Given the description of an element on the screen output the (x, y) to click on. 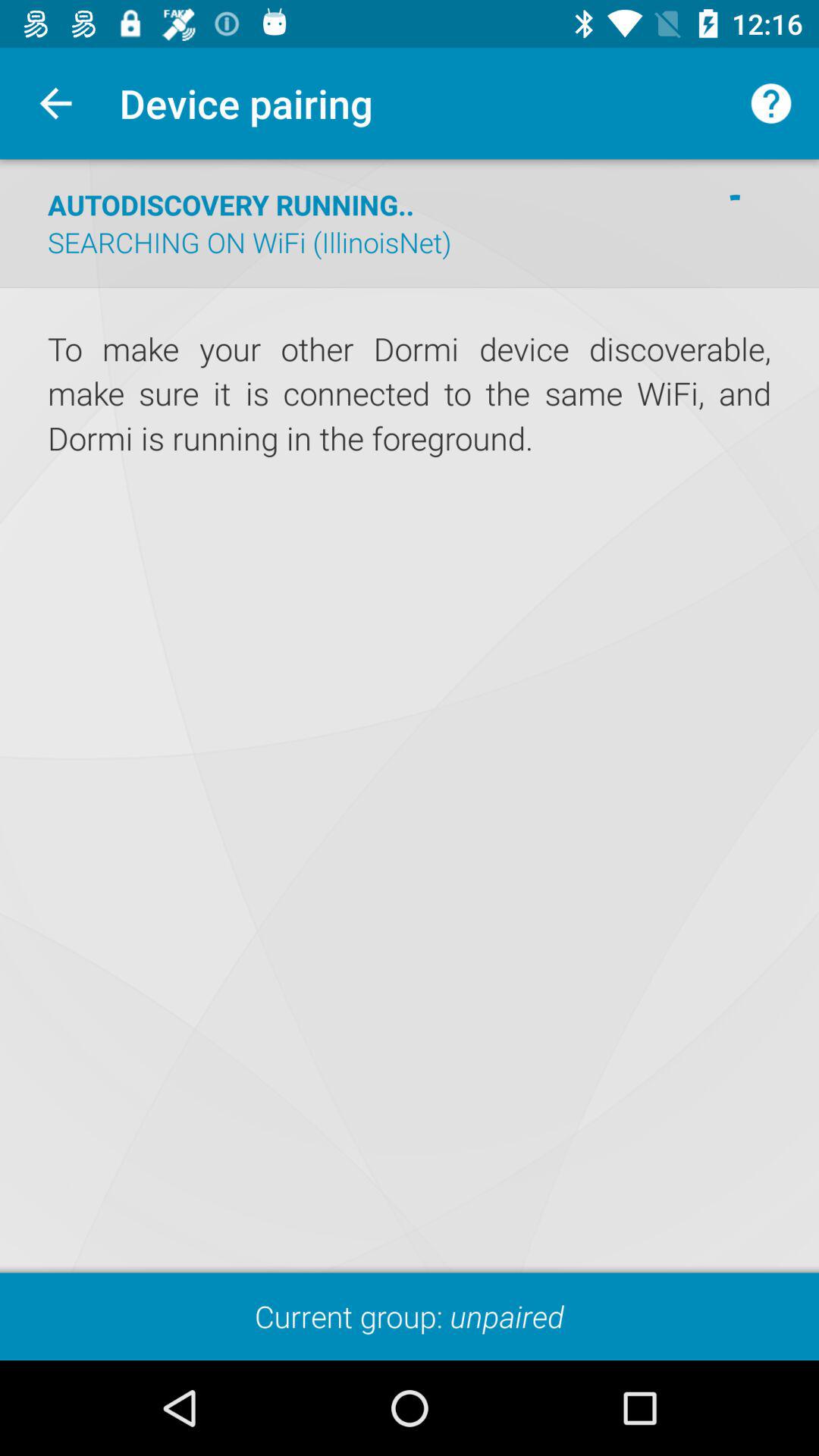
choose the app next to device pairing item (55, 103)
